Given the description of an element on the screen output the (x, y) to click on. 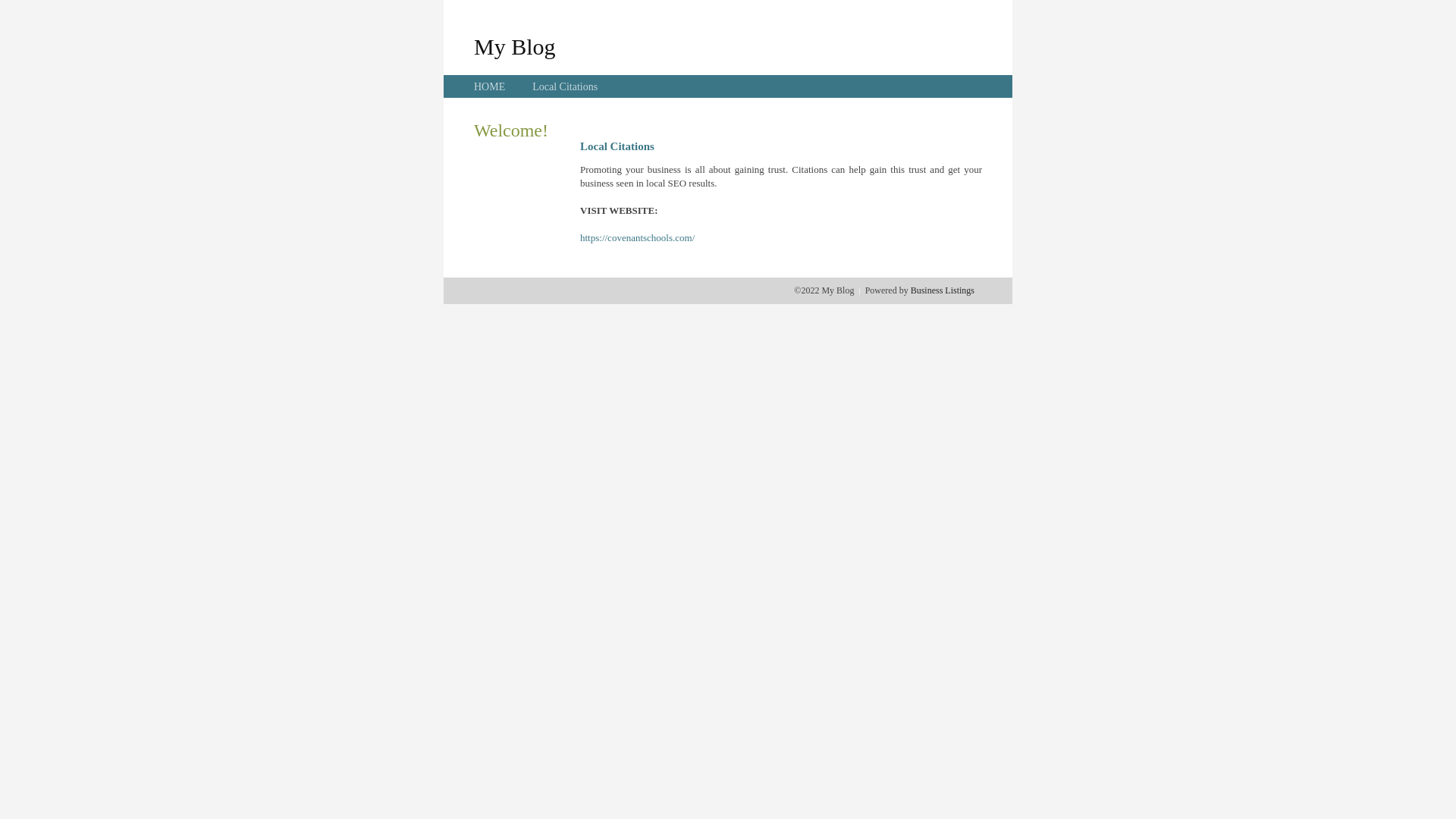
My Blog Element type: text (514, 46)
https://covenantschools.com/ Element type: text (637, 237)
Local Citations Element type: text (564, 86)
Business Listings Element type: text (942, 290)
HOME Element type: text (489, 86)
